Given the description of an element on the screen output the (x, y) to click on. 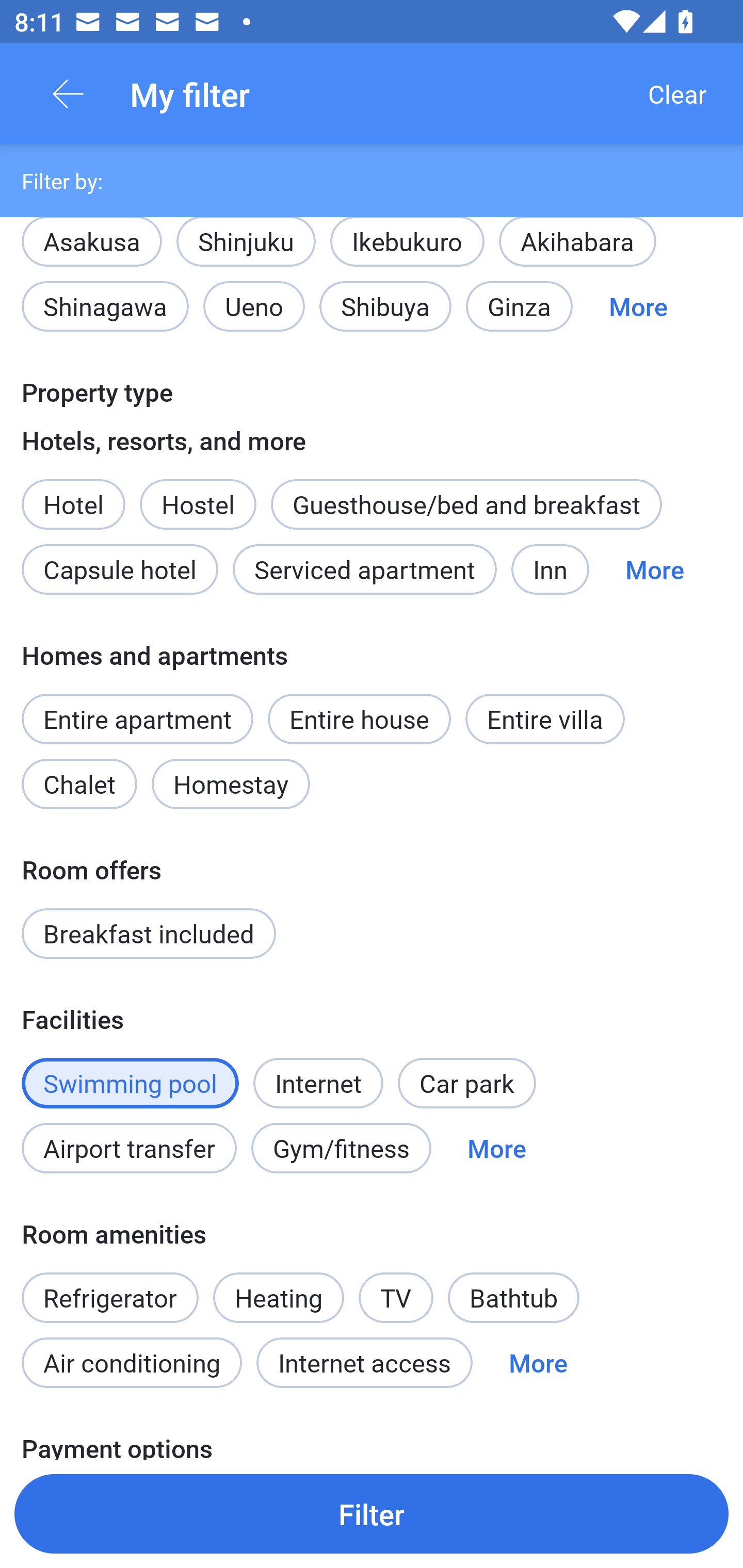
Clear (676, 93)
Asakusa (91, 239)
Shinjuku (245, 250)
Ikebukuro (406, 250)
Akihabara (577, 250)
Shinagawa (104, 306)
Ueno (253, 306)
Shibuya (385, 306)
Ginza (518, 306)
More (637, 306)
Hotel (73, 493)
Hostel (197, 503)
Guesthouse/bed and breakfast (466, 503)
Capsule hotel (119, 569)
Serviced apartment (364, 569)
Inn (550, 569)
More (654, 569)
Entire apartment (137, 718)
Entire house (359, 718)
Entire villa (544, 718)
Chalet (79, 783)
Homestay (230, 783)
Breakfast included (148, 933)
Internet (318, 1072)
Car park (466, 1082)
Airport transfer (129, 1148)
Gym/fitness (341, 1148)
More (496, 1148)
Refrigerator (109, 1286)
Heating (278, 1297)
TV (395, 1286)
Bathtub (513, 1297)
Air conditioning (131, 1362)
Internet access (364, 1362)
More (538, 1362)
Filter (371, 1513)
